Given the description of an element on the screen output the (x, y) to click on. 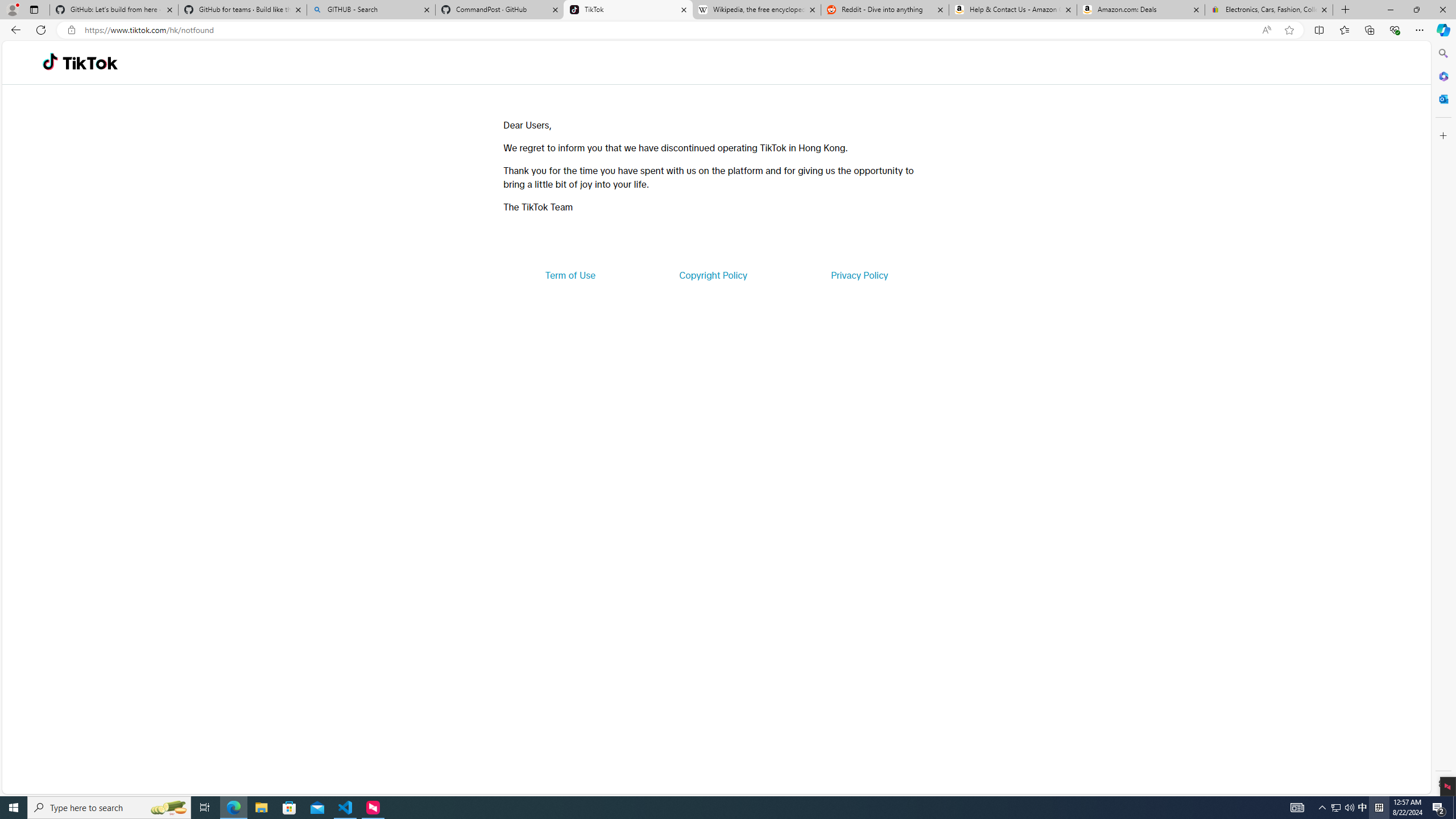
Copyright Policy (712, 274)
Amazon.com: Deals (1140, 9)
